Given the description of an element on the screen output the (x, y) to click on. 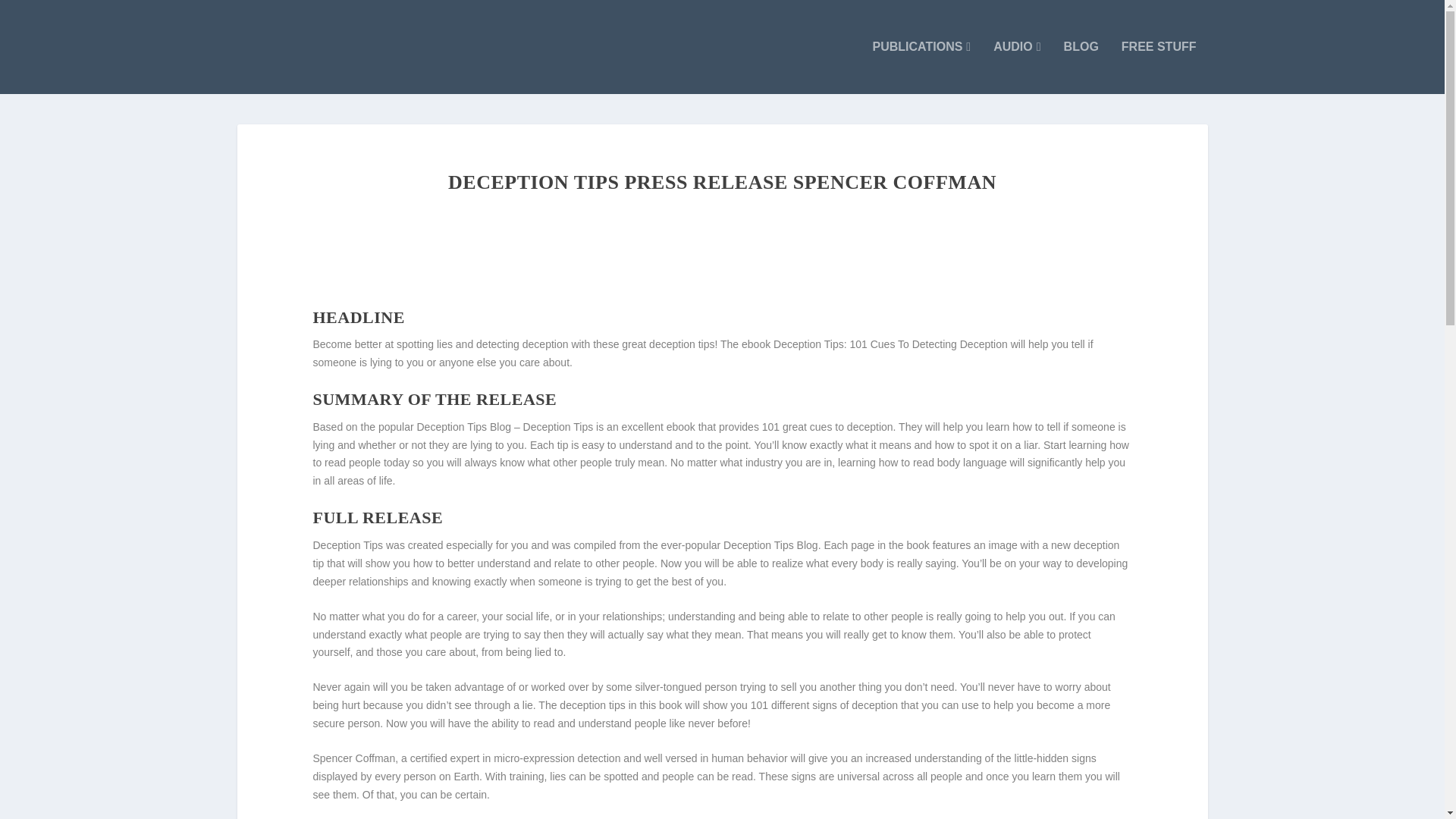
Deception Tips Blog (464, 426)
Deception Tips Blog (770, 544)
PUBLICATIONS (921, 67)
Deception Tips (347, 544)
FREE STUFF (1158, 67)
Deception Tips: 101 Cues To Detecting Deception (890, 344)
